Given the description of an element on the screen output the (x, y) to click on. 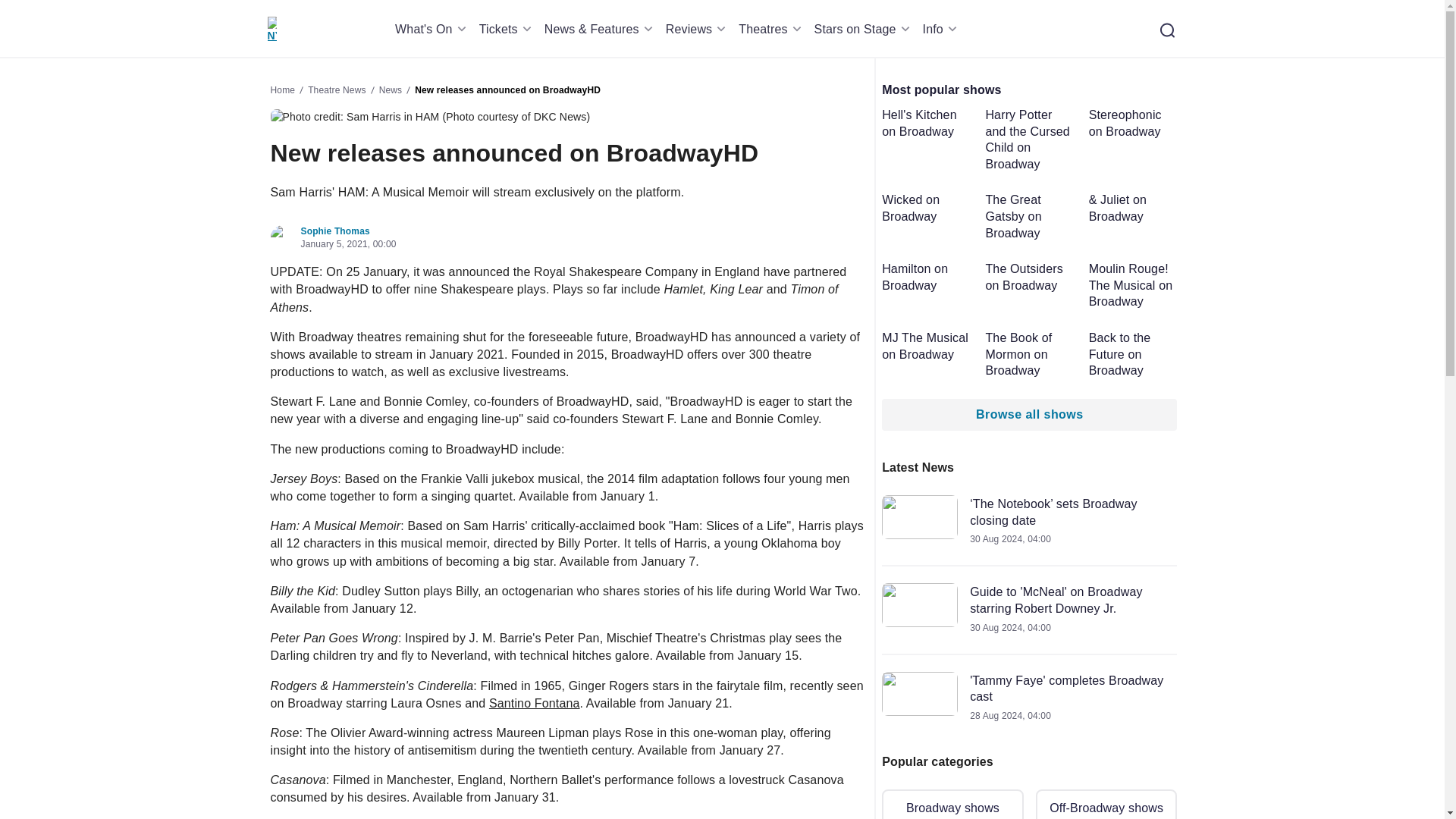
Read more about The Book of Mormon on Broadway (1029, 354)
What's On (432, 28)
Tickets (508, 28)
Read more about Hell's Kitchen on Broadway (926, 123)
Read more about Stereophonic on Broadway (1133, 123)
Read more about Wicked on Broadway (926, 207)
Read more about Hamilton on Broadway (926, 277)
Read more about The Outsiders on Broadway (1029, 277)
Read more about MJ The Musical on Broadway (926, 346)
Read more about The Great Gatsby on Broadway (1029, 215)
